Given the description of an element on the screen output the (x, y) to click on. 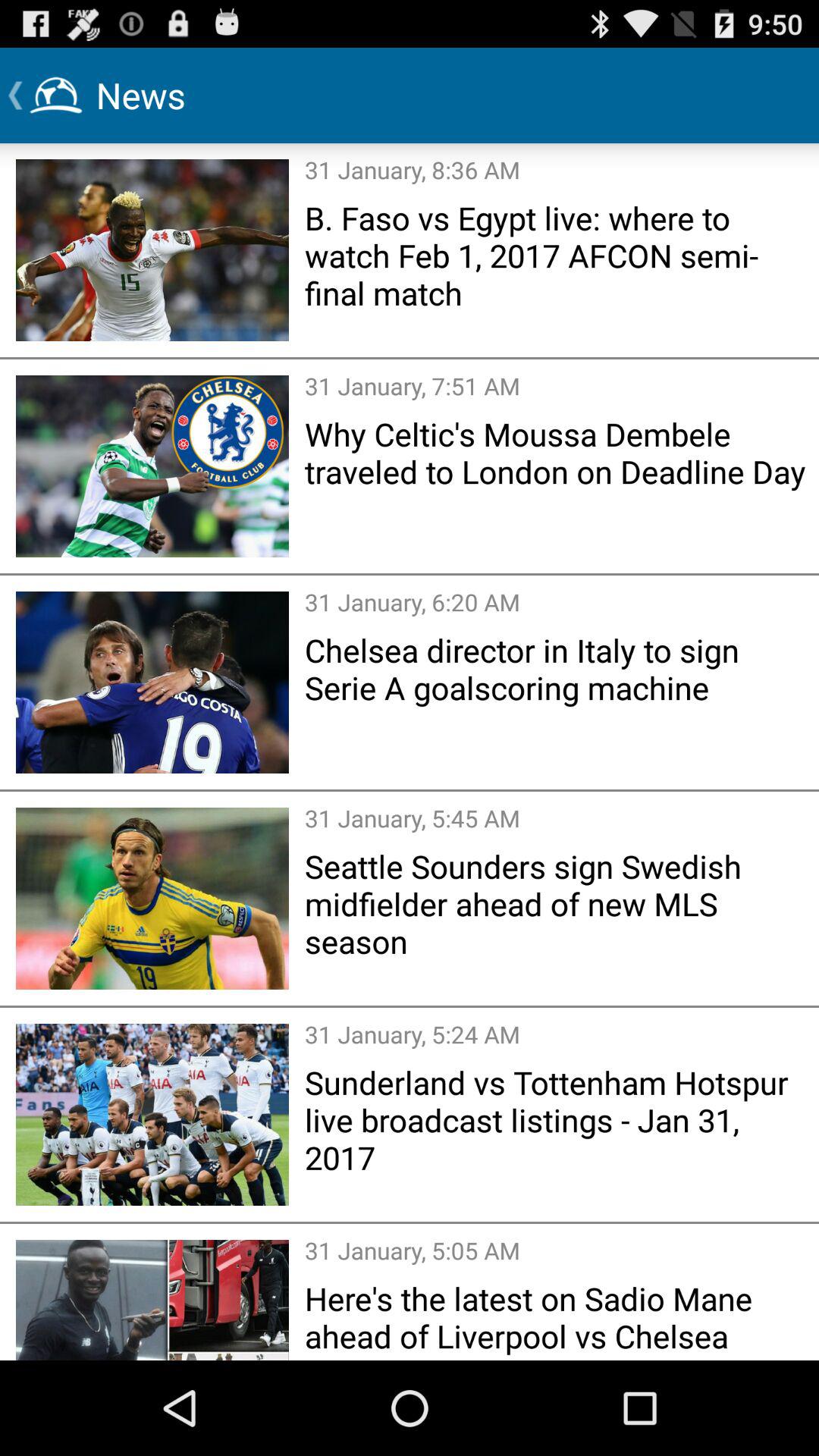
press the chelsea director in item (556, 668)
